Given the description of an element on the screen output the (x, y) to click on. 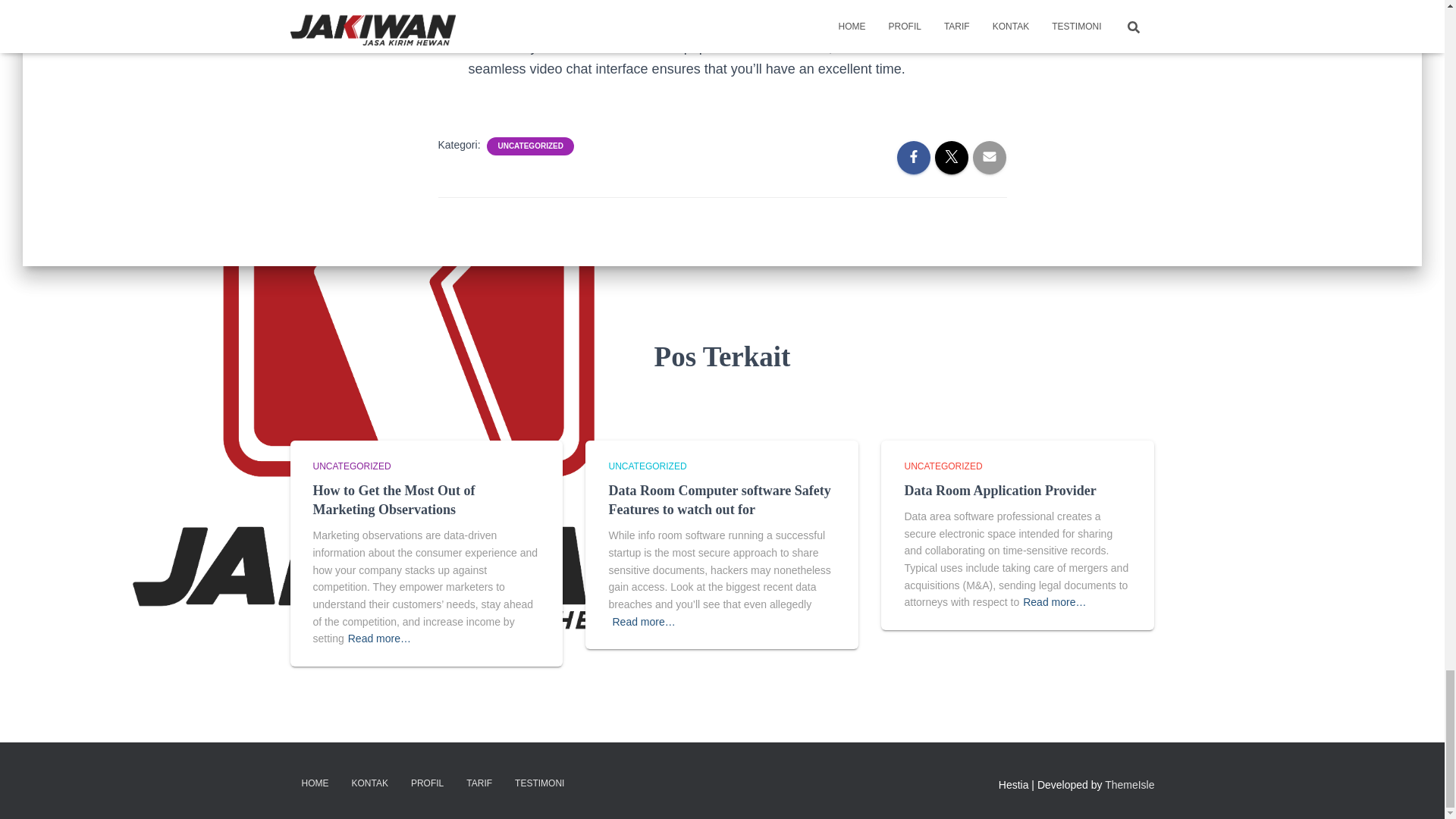
Lihat semua pos di Uncategorized (351, 466)
Lihat semua pos di Uncategorized (646, 466)
Data Room Computer software Safety Features to watch out for (718, 499)
UNCATEGORIZED (942, 466)
PROFIL (426, 783)
Data Room Computer software Safety Features to watch out for (718, 499)
UNCATEGORIZED (530, 145)
ThemeIsle (1129, 784)
Data Room Application Provider (1000, 490)
TARIF (478, 783)
